Given the description of an element on the screen output the (x, y) to click on. 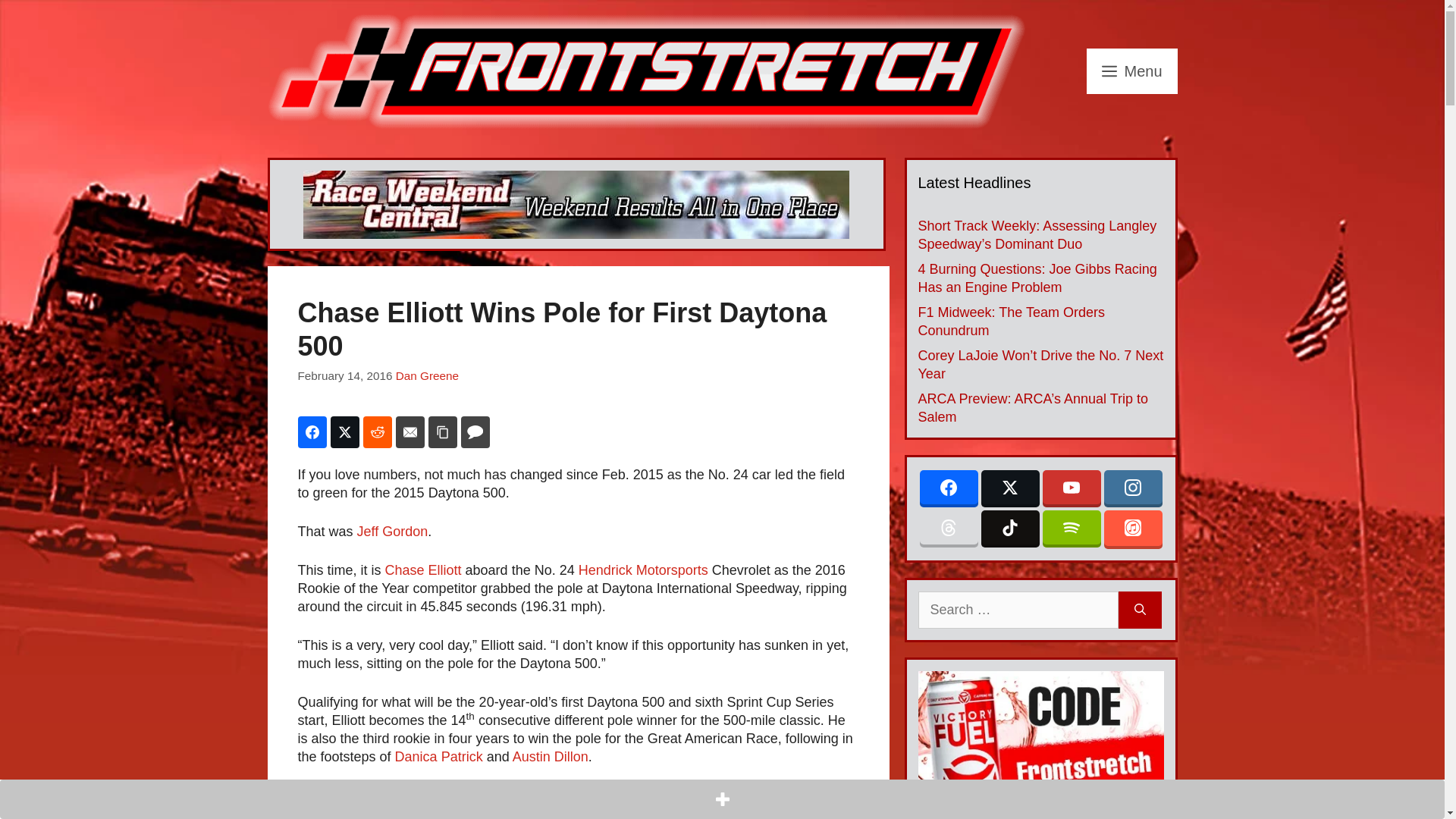
Danica Patrick (440, 756)
Jeff Gordon (392, 531)
Austin Dillon (550, 756)
Chase Elliott (423, 570)
Dan Greene (427, 375)
Menu (1131, 71)
Share on Facebook (311, 431)
Share on Email (410, 431)
Share on Reddit (376, 431)
Hendrick Motorsports (642, 570)
Share on Comments (475, 431)
Share on Copy Link (442, 431)
Share on Twitter (344, 431)
